Given the description of an element on the screen output the (x, y) to click on. 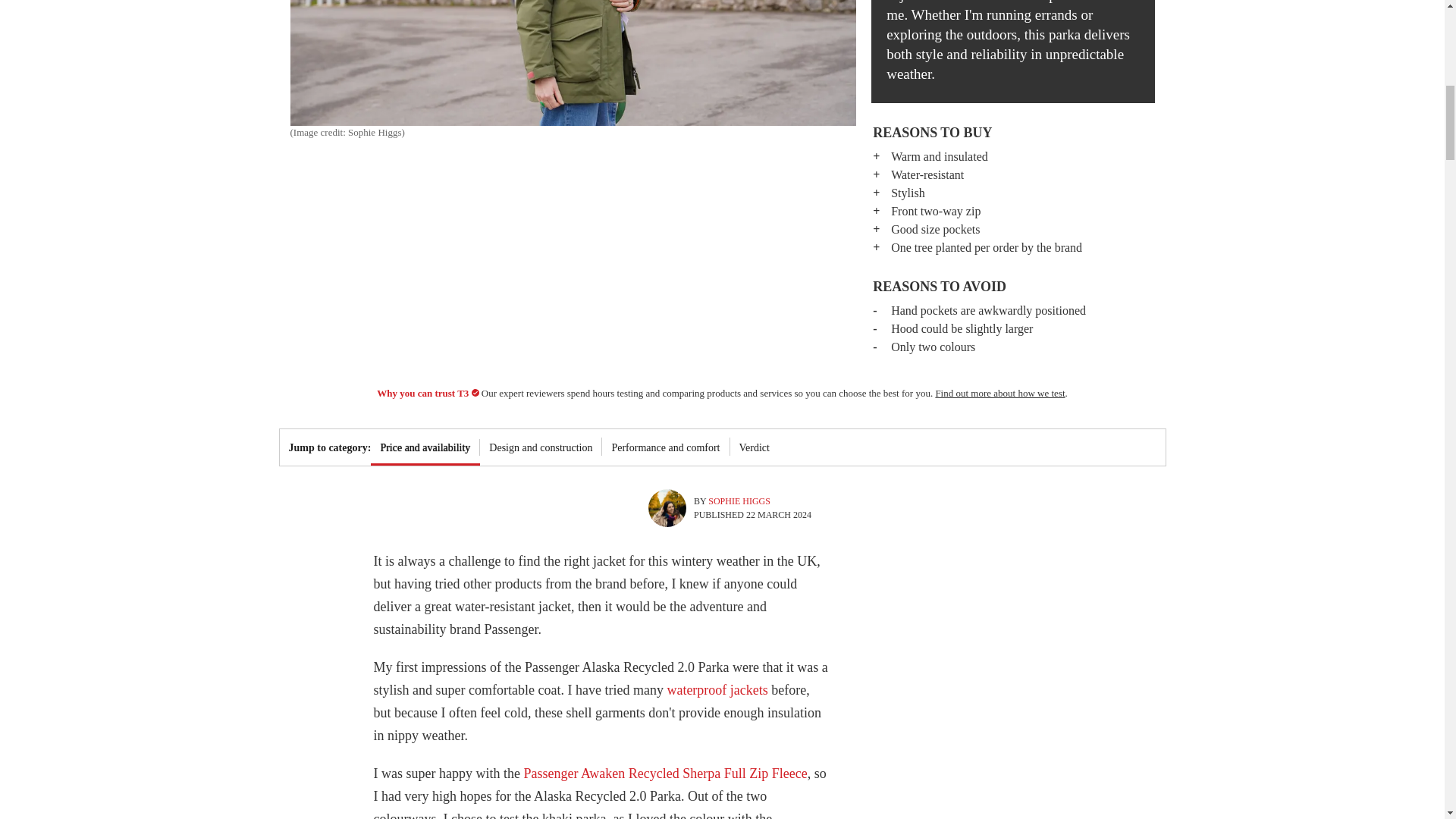
Jump to category: (325, 447)
